Given the description of an element on the screen output the (x, y) to click on. 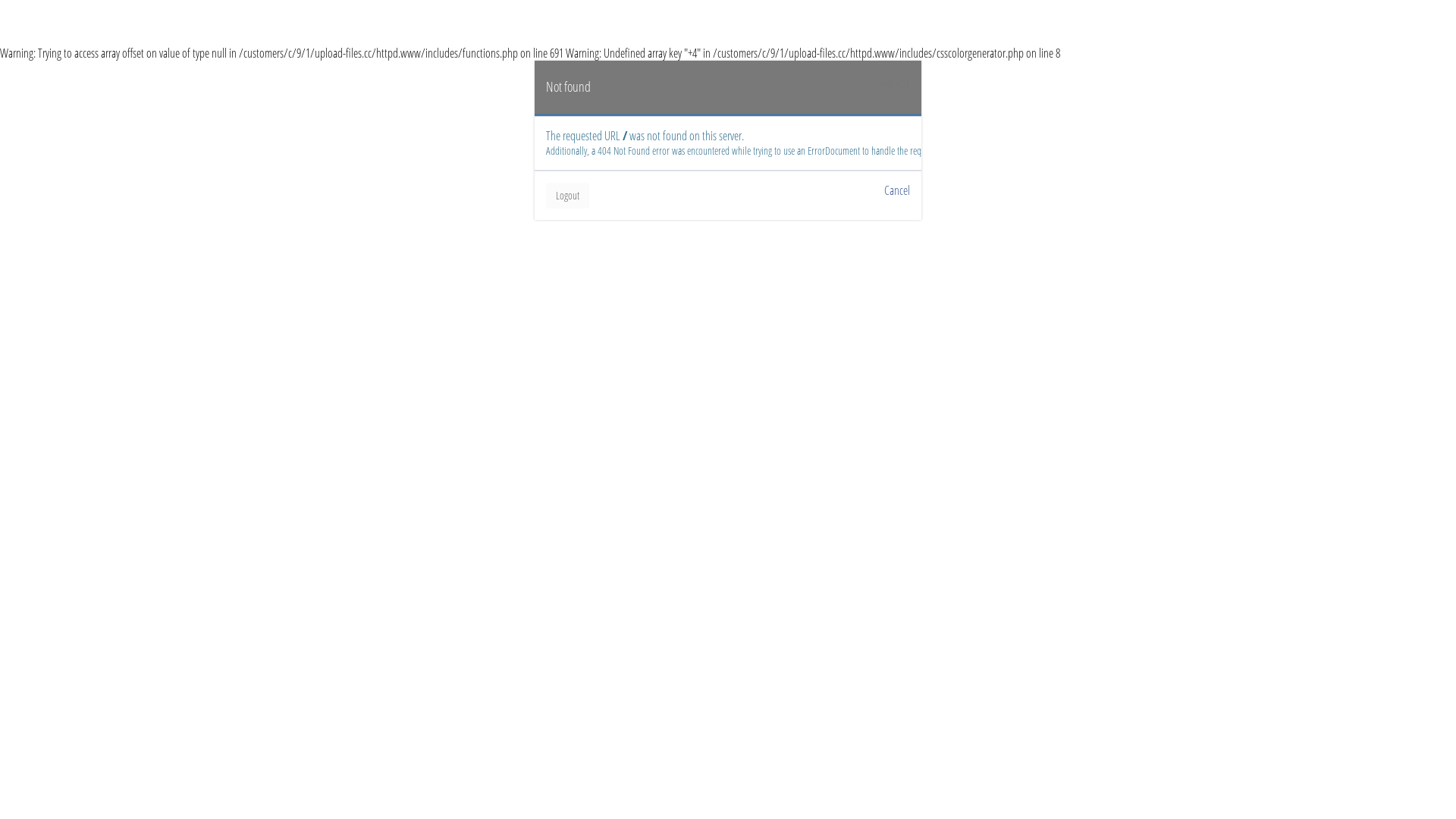
Logout Element type: text (567, 195)
Cancel Element type: text (897, 189)
